Given the description of an element on the screen output the (x, y) to click on. 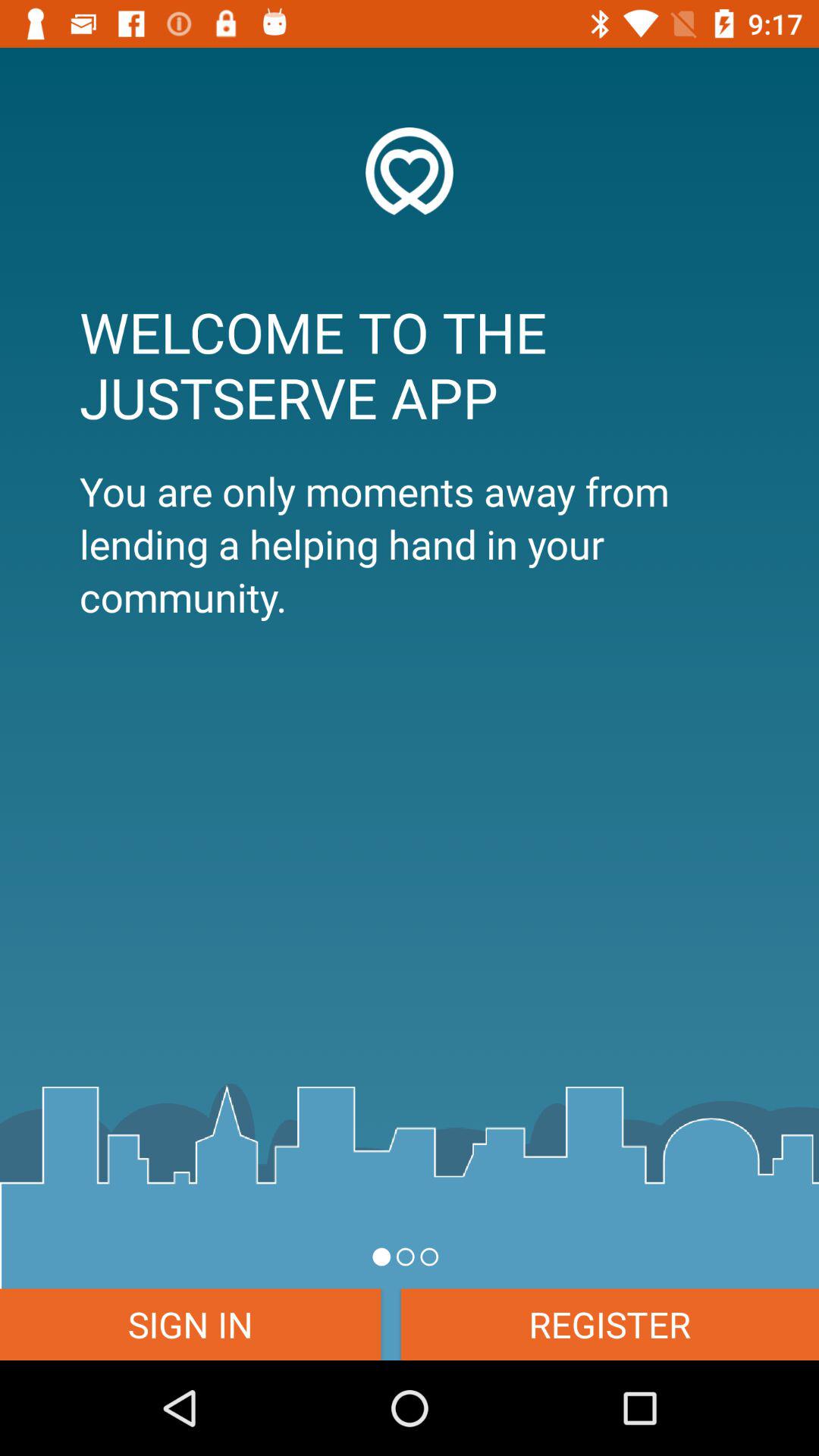
tap register icon (609, 1324)
